Given the description of an element on the screen output the (x, y) to click on. 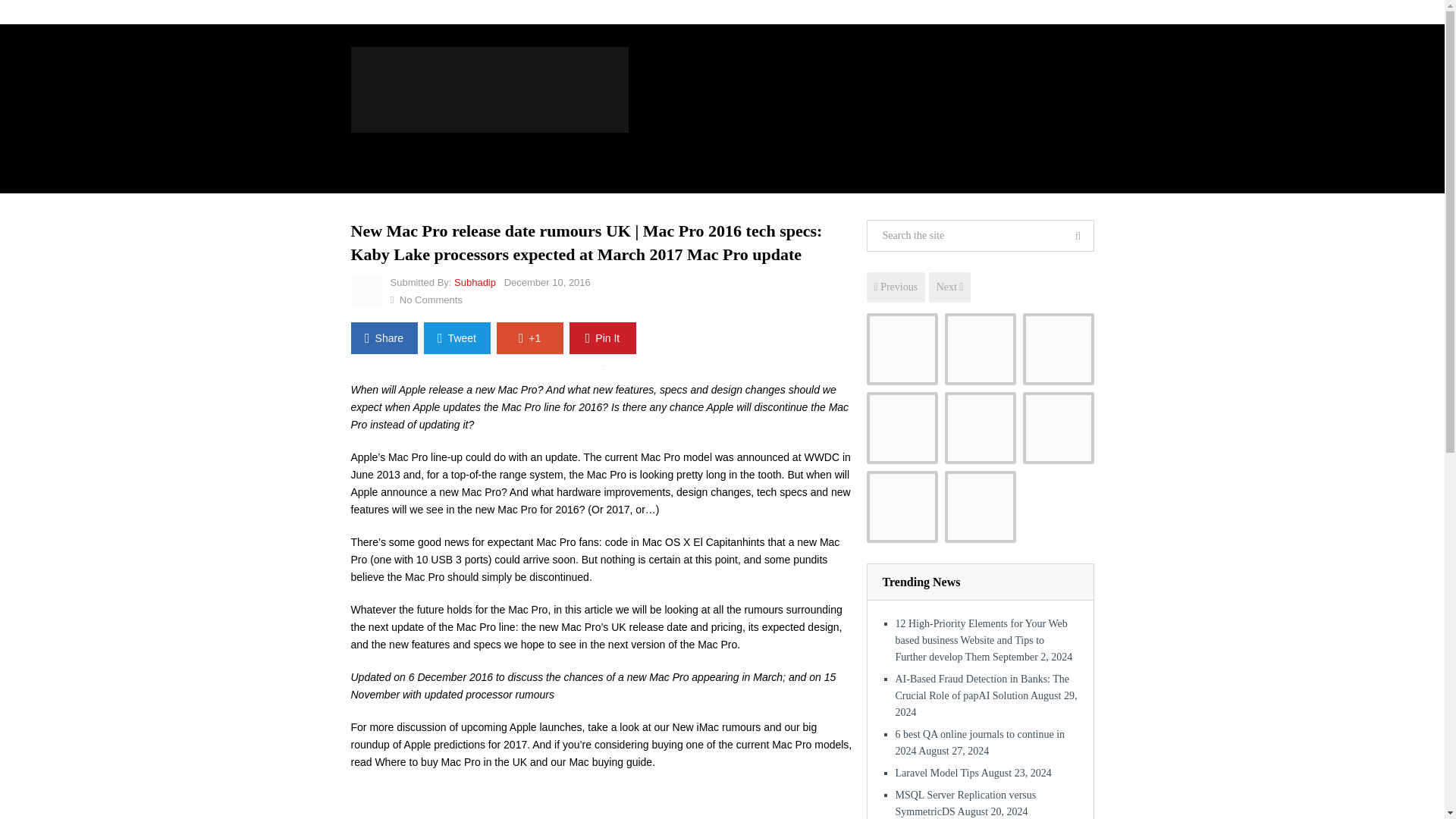
Pin It (601, 337)
6 best QA online journals to continue in 2024 (1057, 348)
Posts by Subhadip (475, 282)
HOME (378, 155)
ANDROID (438, 155)
MSQL Server Replication versus SymmetricDS (980, 428)
TECHNOLOGY (833, 155)
Home (367, 12)
Previous (895, 286)
